Given the description of an element on the screen output the (x, y) to click on. 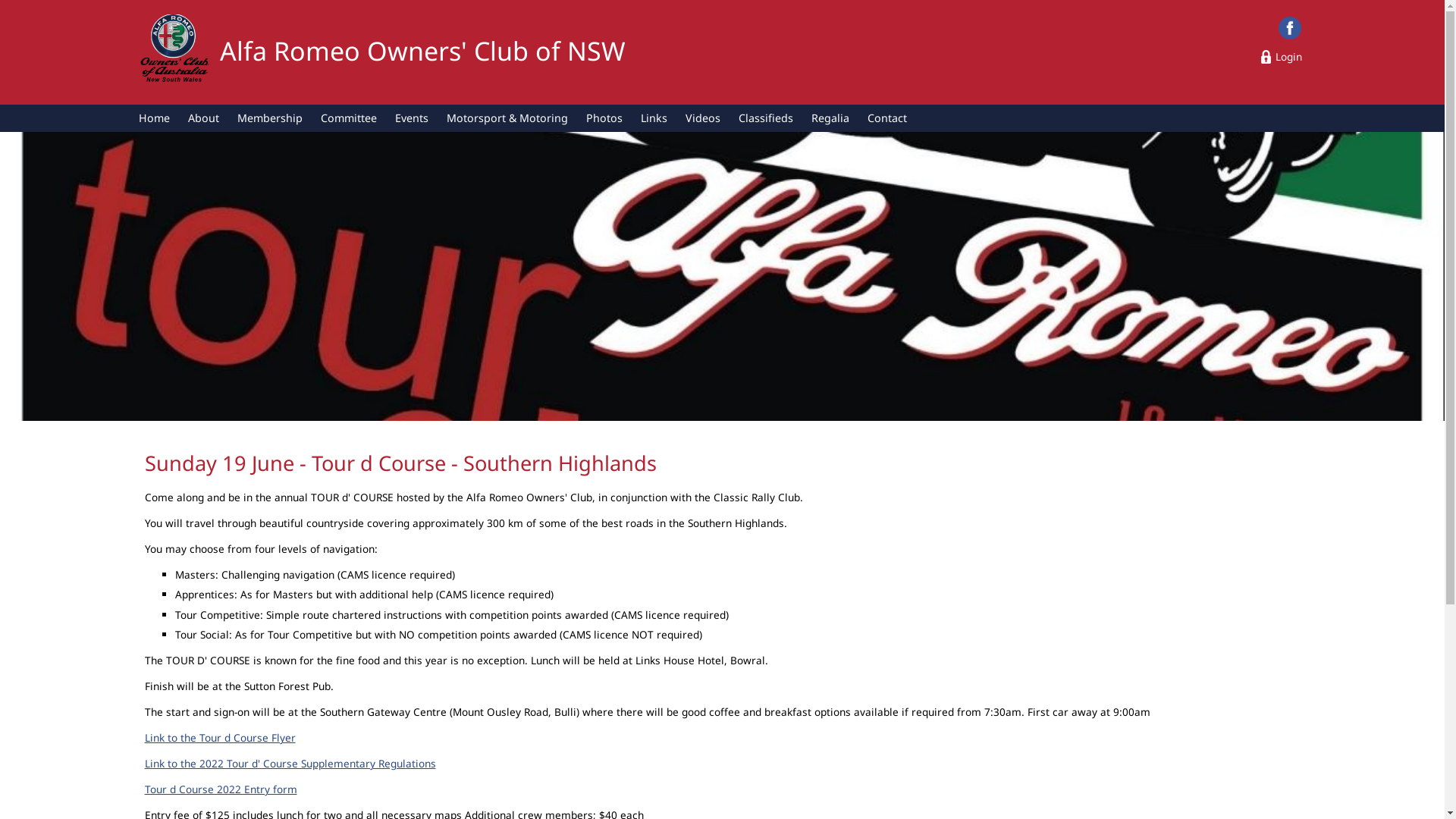
Alfa Romeo Owners' Club of NSW logo Element type: hover (173, 51)
Link to the 2022 Tour d' Course Supplementary Regulations Element type: text (289, 763)
Events Element type: text (411, 117)
Contact Element type: text (887, 117)
Home page Element type: hover (173, 50)
Videos Element type: text (702, 117)
Classifieds Element type: text (765, 117)
Membership Element type: text (269, 117)
Home Element type: text (153, 117)
Motorsport & Motoring Element type: text (507, 117)
Links Element type: text (653, 117)
Photos Element type: text (604, 117)
Regalia Element type: text (830, 117)
Link to the Tour d Course Flyer Element type: text (219, 737)
Tour d Course 2022 Entry form Element type: text (220, 788)
About Element type: text (203, 117)
Login Element type: text (1281, 56)
Committee Element type: text (348, 117)
Find us on Facebook at https://www.facebook.com/arocansw/ Element type: hover (1289, 27)
